Given the description of an element on the screen output the (x, y) to click on. 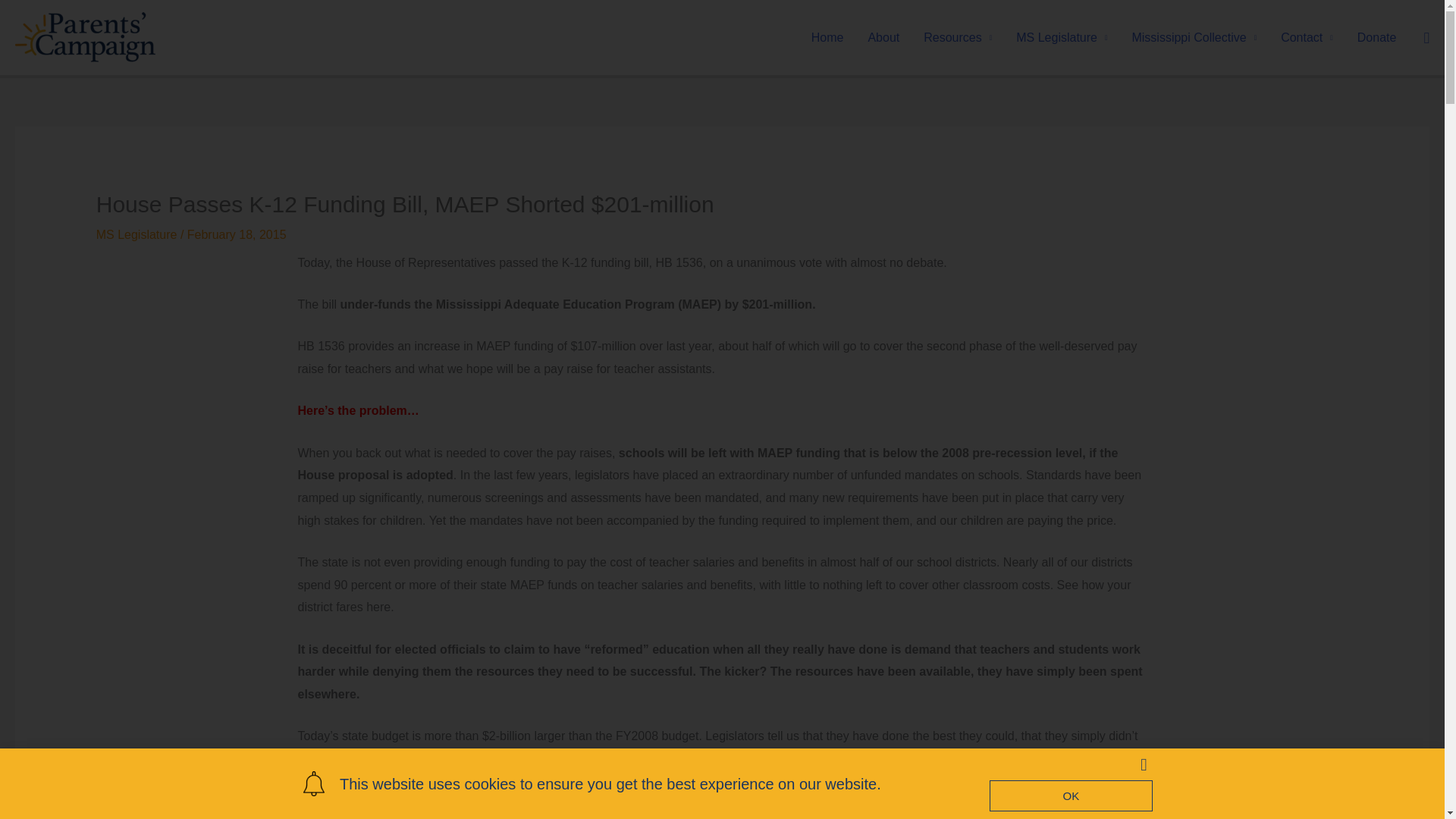
Resources (957, 36)
About (883, 36)
Home (827, 36)
MS Legislature (1061, 36)
